Given the description of an element on the screen output the (x, y) to click on. 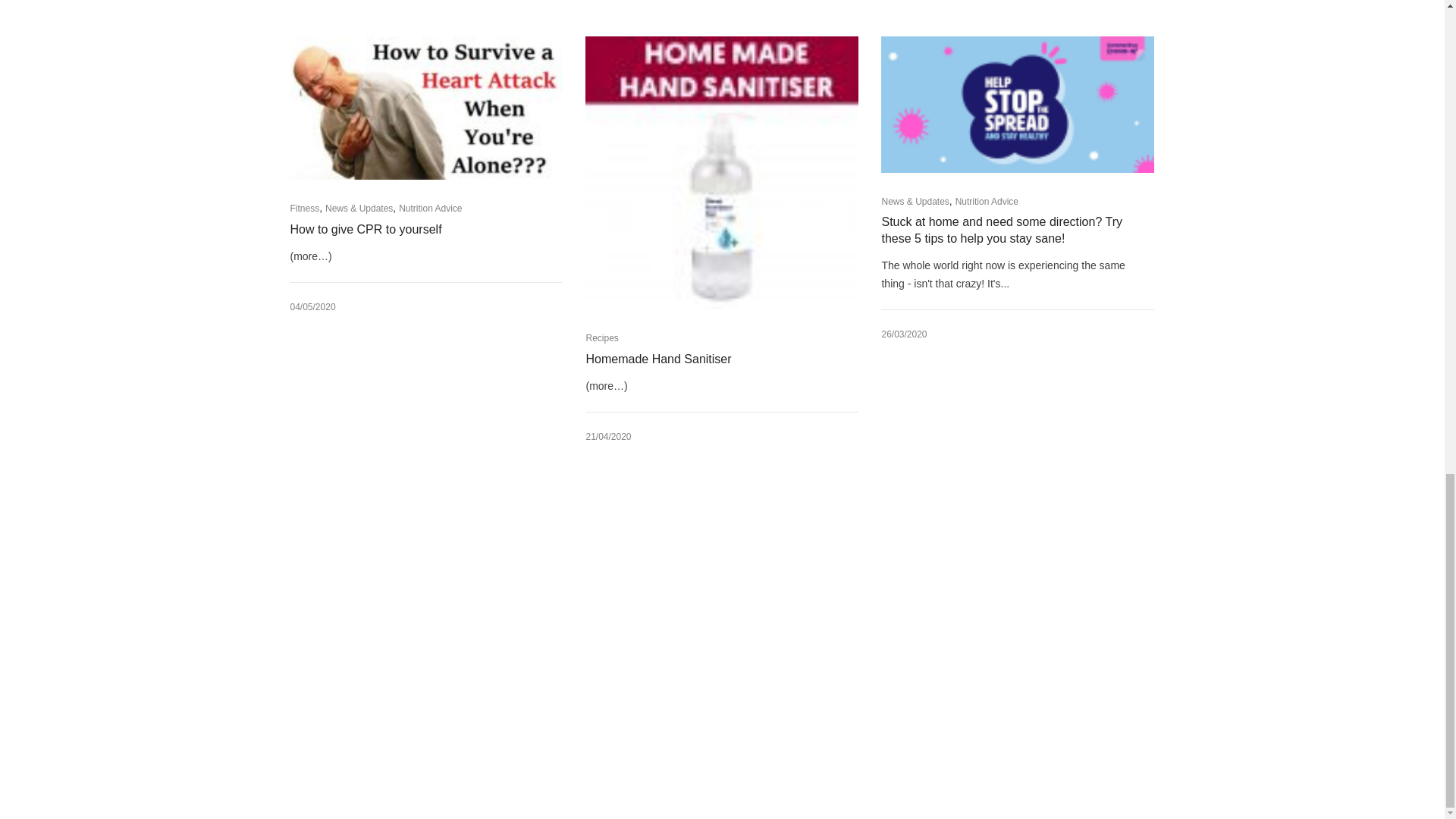
How to give CPR to yourself (412, 229)
Fitness (303, 208)
Nutrition Advice (429, 208)
